Given the description of an element on the screen output the (x, y) to click on. 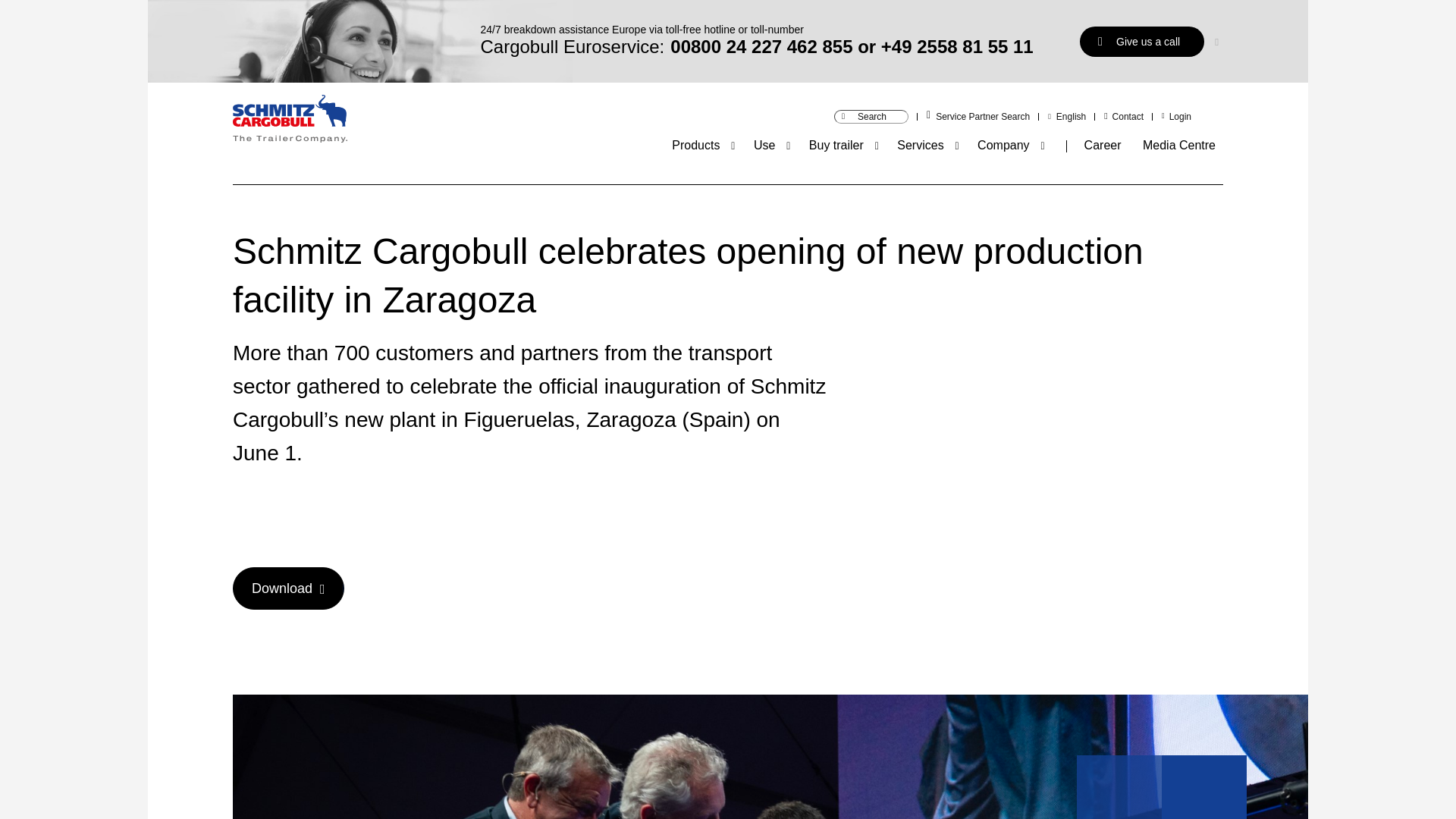
Products (695, 144)
Service Partner Search (982, 116)
Give us a call (1142, 40)
Logo header (289, 121)
